Given the description of an element on the screen output the (x, y) to click on. 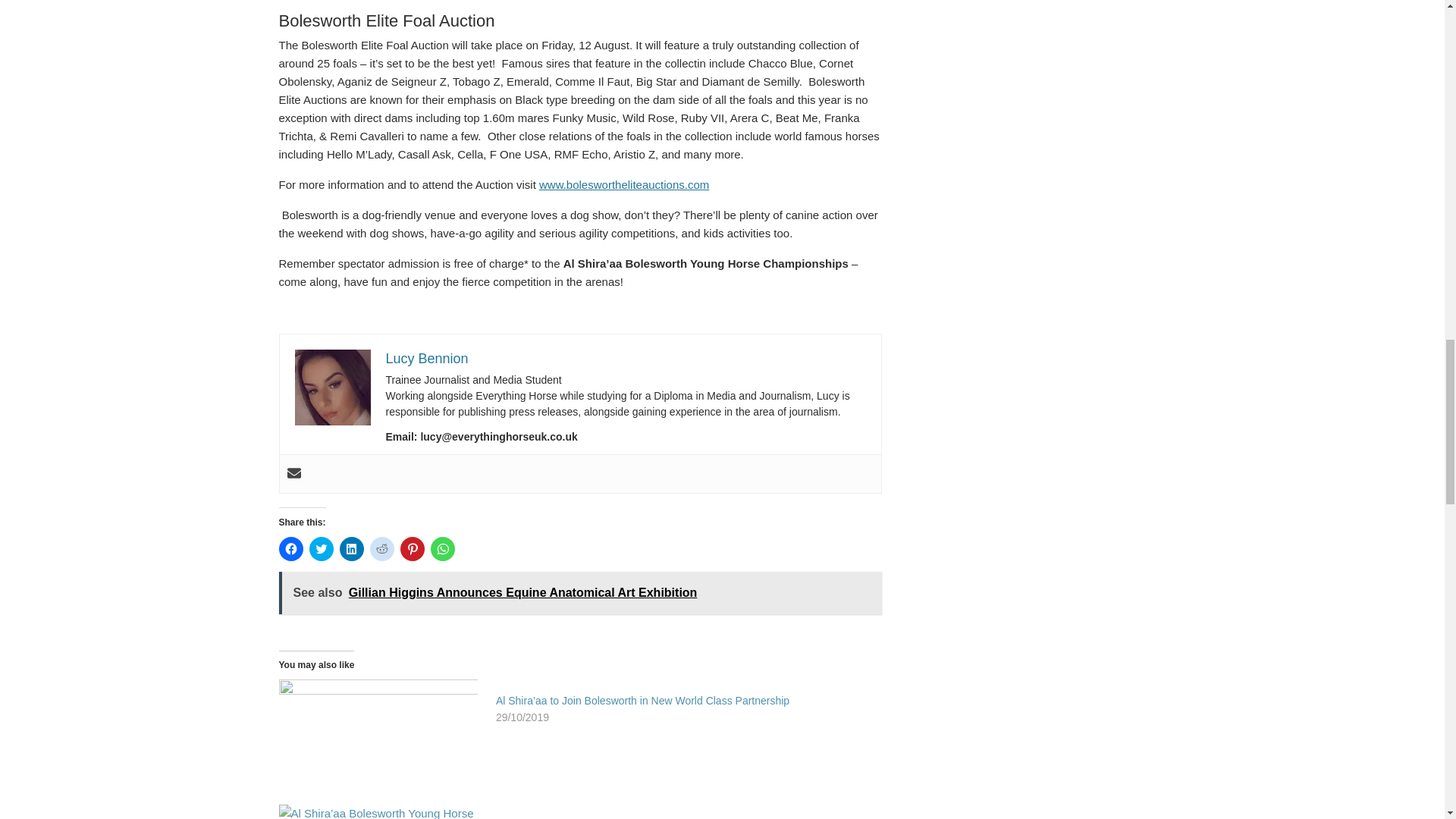
Click to share on Facebook (290, 549)
Click to share on LinkedIn (351, 549)
Click to share on Pinterest (412, 549)
User email (292, 473)
Click to share on Reddit (381, 549)
Click to share on WhatsApp (442, 549)
Click to share on Twitter (320, 549)
